Given the description of an element on the screen output the (x, y) to click on. 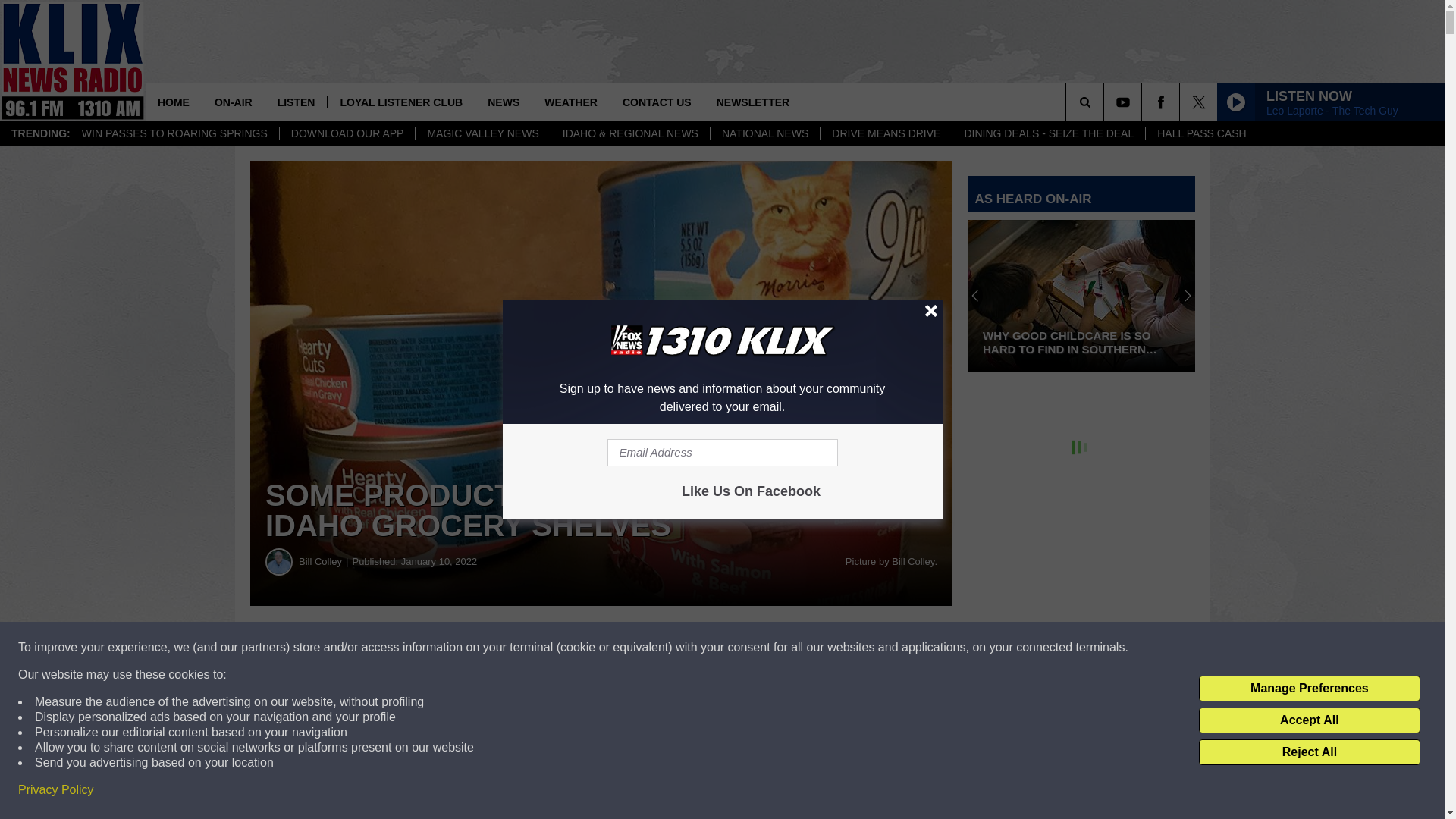
DRIVE MEANS DRIVE (885, 133)
Share on Twitter (741, 647)
HOME (173, 102)
SEARCH (1106, 102)
WIN PASSES TO ROARING SPRINGS (174, 133)
DINING DEALS - SEIZE THE DEAL (1048, 133)
LISTEN (295, 102)
NATIONAL NEWS (764, 133)
HALL PASS CASH (1200, 133)
Manage Preferences (1309, 688)
MAGIC VALLEY NEWS (482, 133)
Accept All (1309, 720)
ON-AIR (233, 102)
Reject All (1309, 751)
Privacy Policy (55, 789)
